Given the description of an element on the screen output the (x, y) to click on. 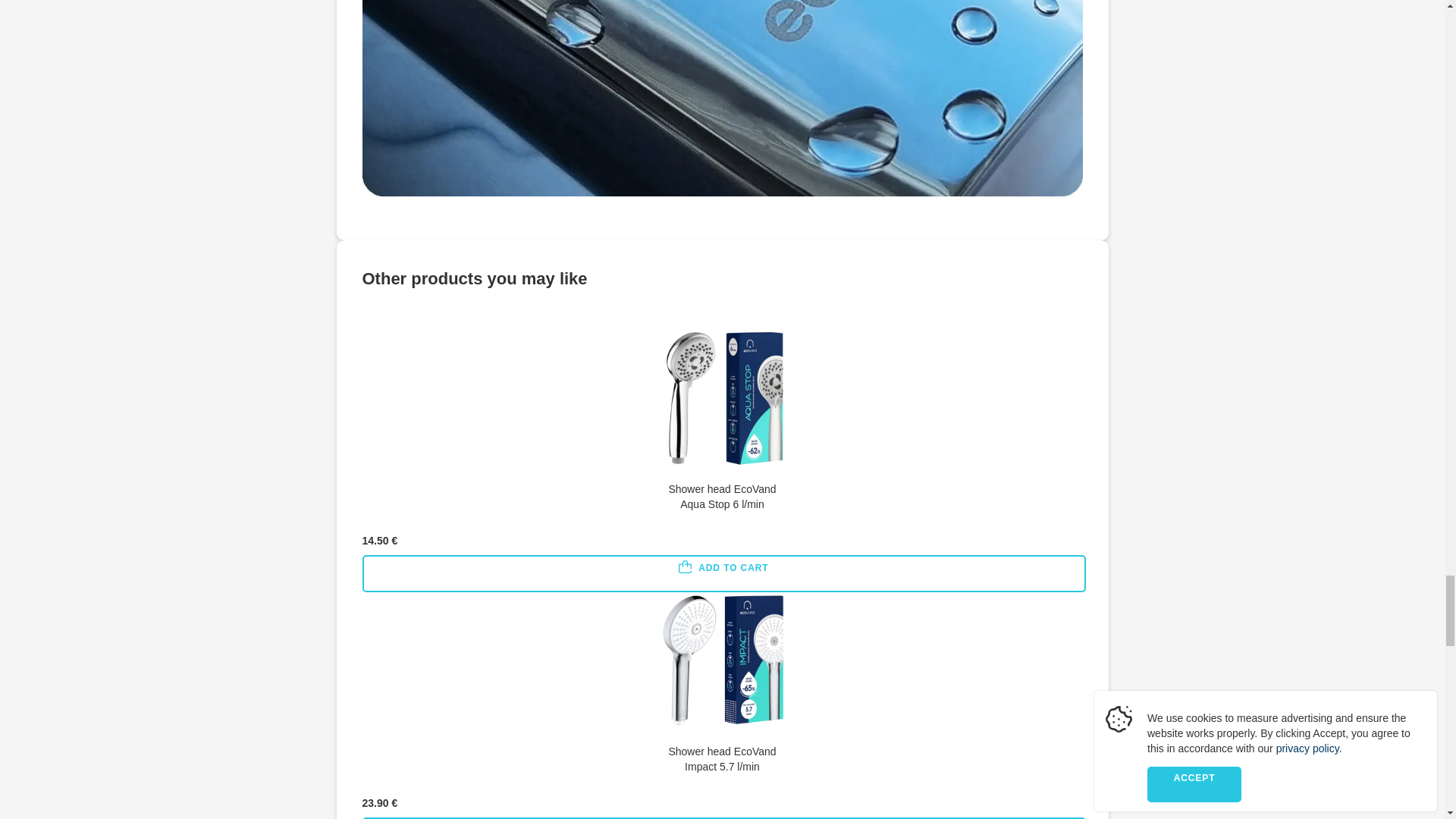
ADD TO CART (724, 573)
